Given the description of an element on the screen output the (x, y) to click on. 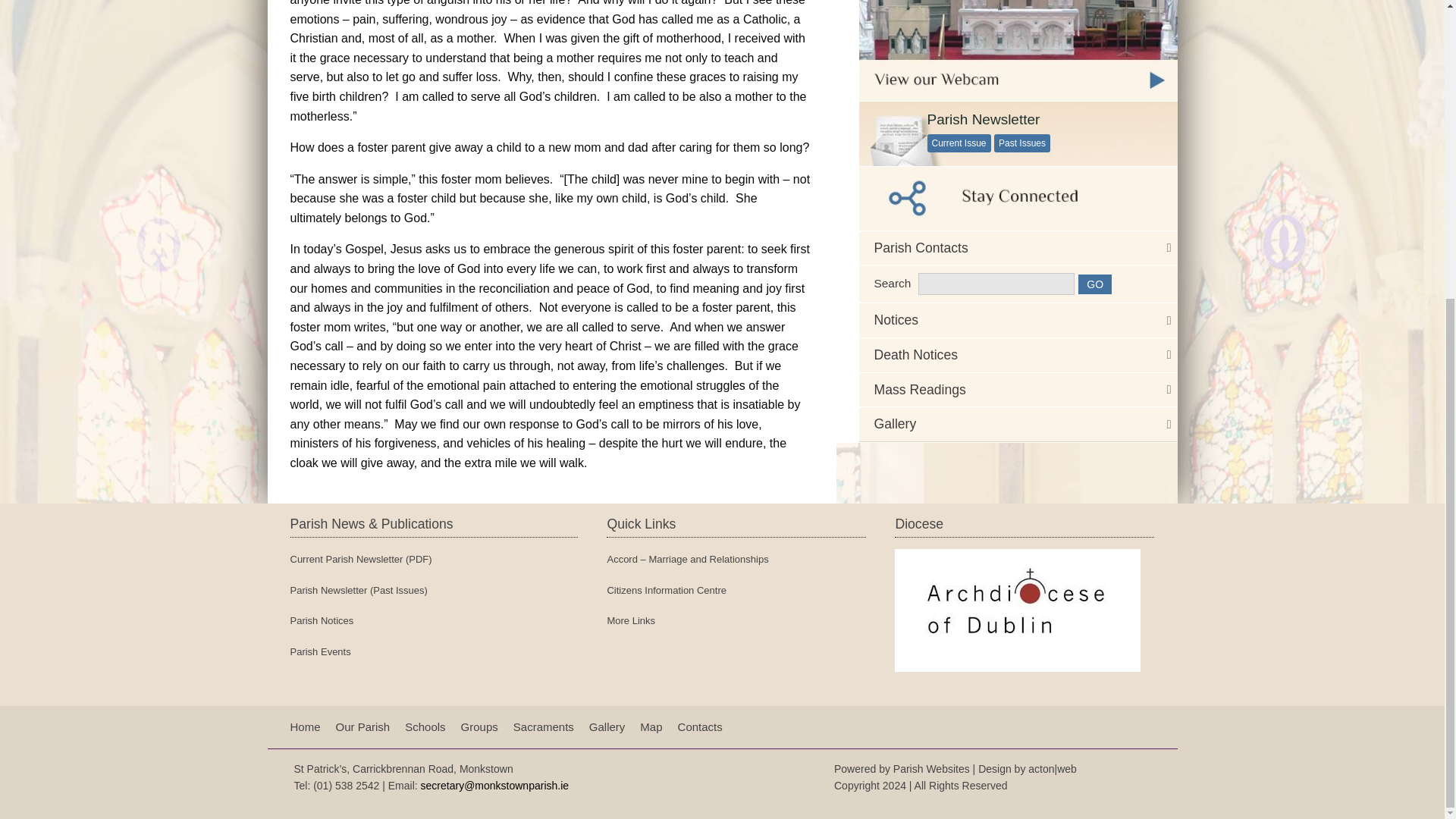
Go (1095, 284)
